Given the description of an element on the screen output the (x, y) to click on. 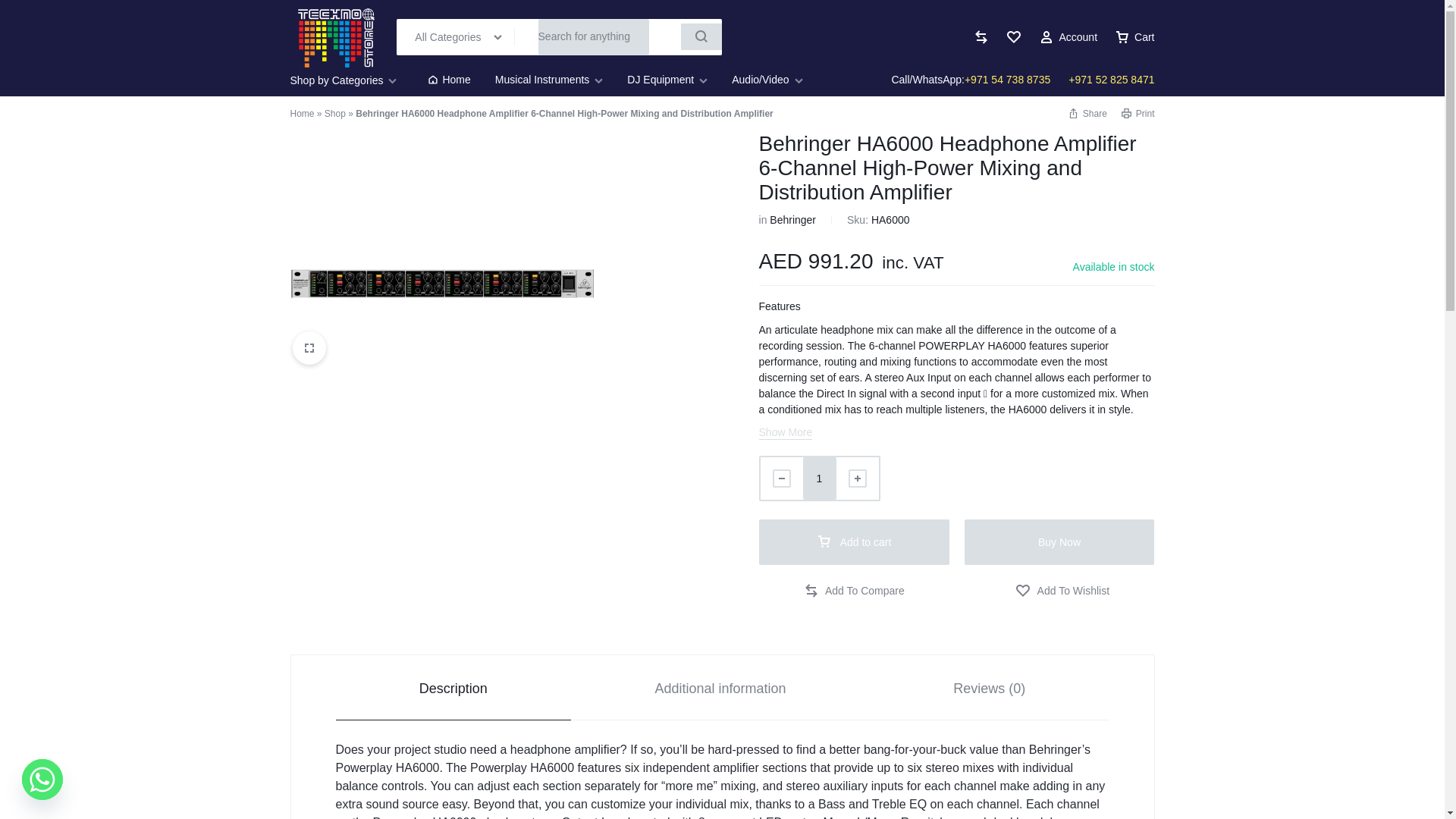
Cart (1134, 37)
Account (1068, 37)
